Given the description of an element on the screen output the (x, y) to click on. 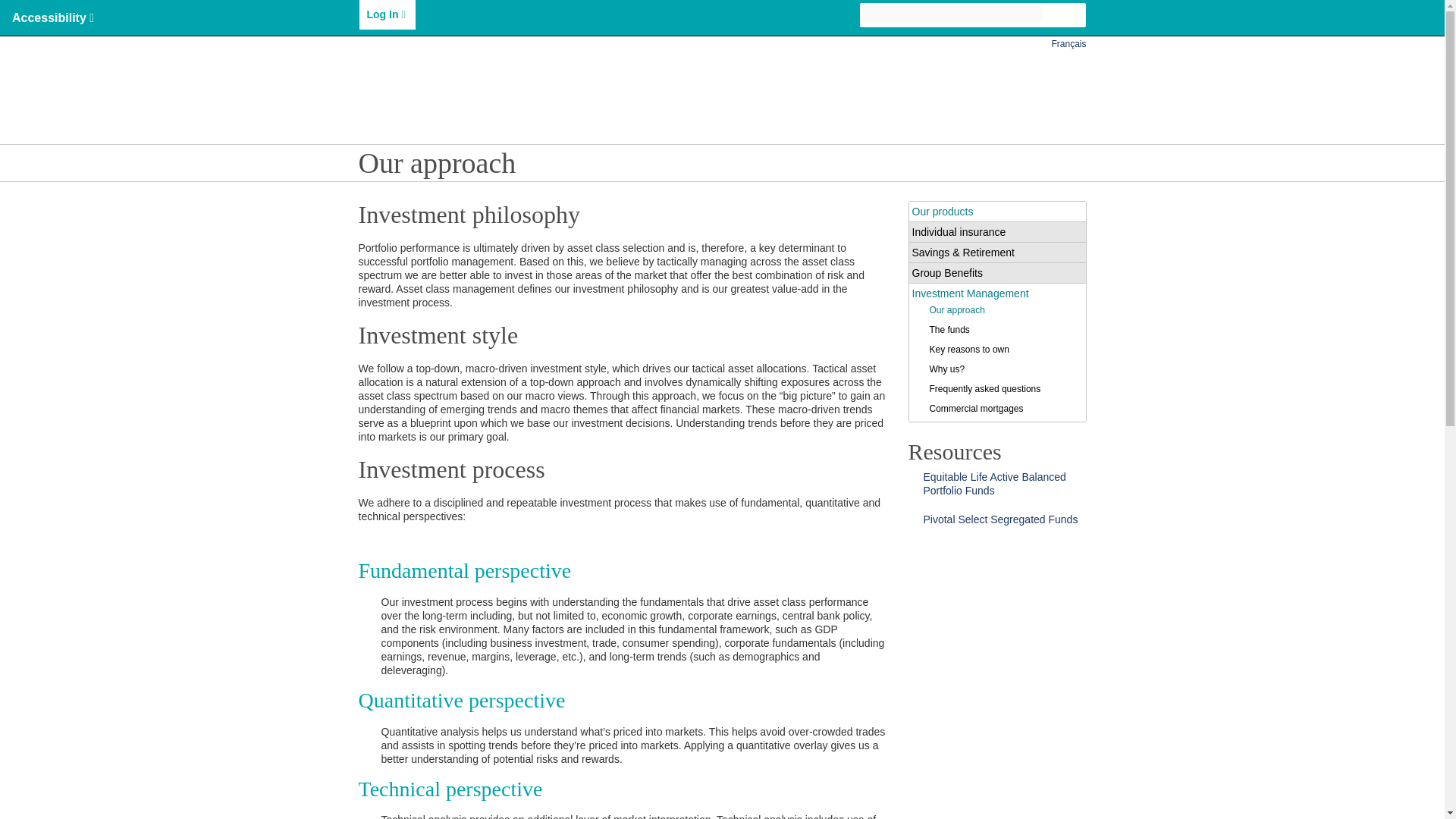
Who We Are (601, 79)
Equitable Life Active Balanced Portfolio Funds (994, 483)
Home (406, 88)
Pivotal Select Segregated Funds (1000, 519)
Home (513, 79)
Accessibility (53, 18)
Search (1076, 16)
Log In   (387, 14)
Our products (700, 79)
Search (951, 13)
